Given the description of an element on the screen output the (x, y) to click on. 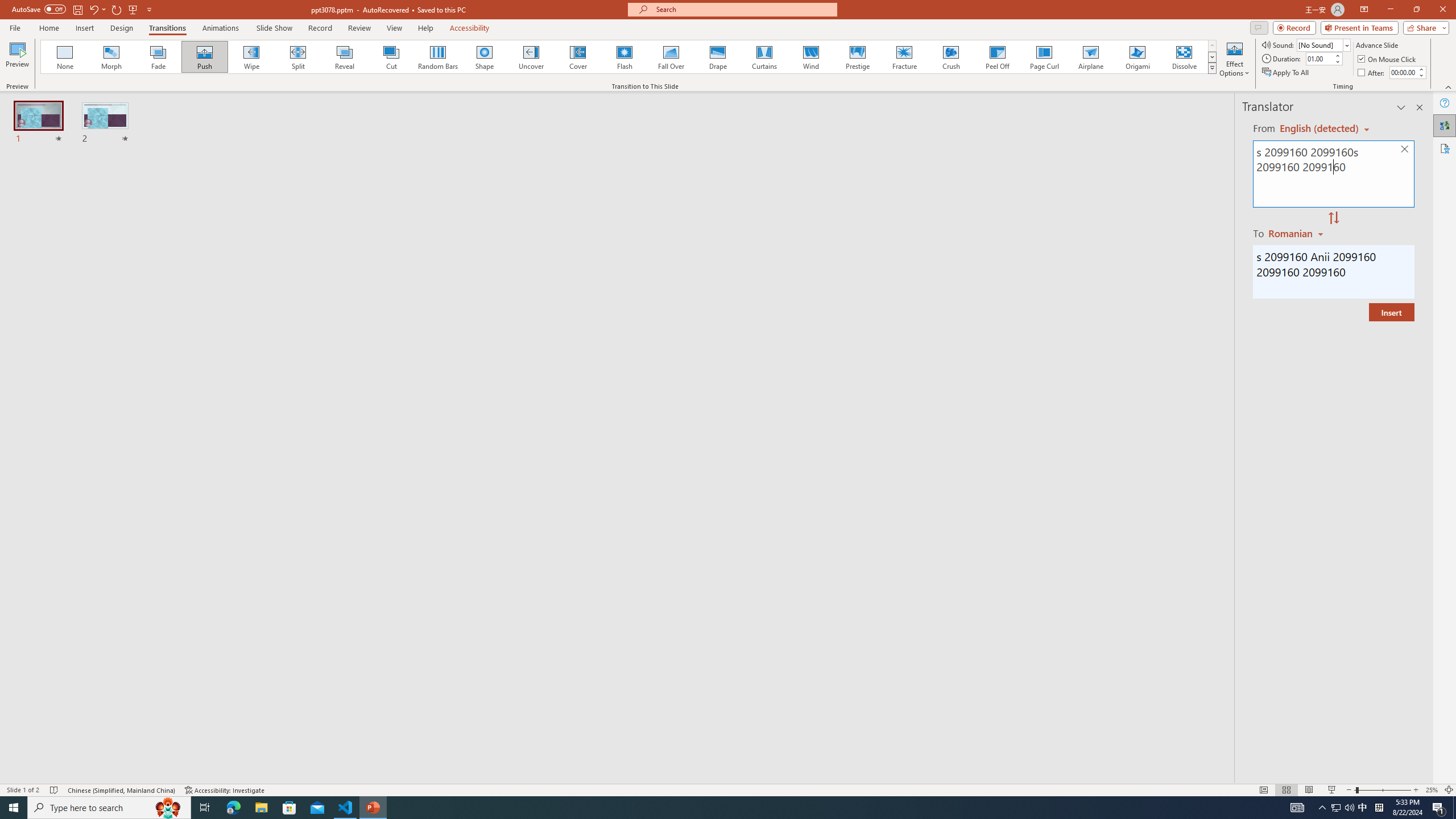
Dissolve (1183, 56)
Drape (717, 56)
